Given the description of an element on the screen output the (x, y) to click on. 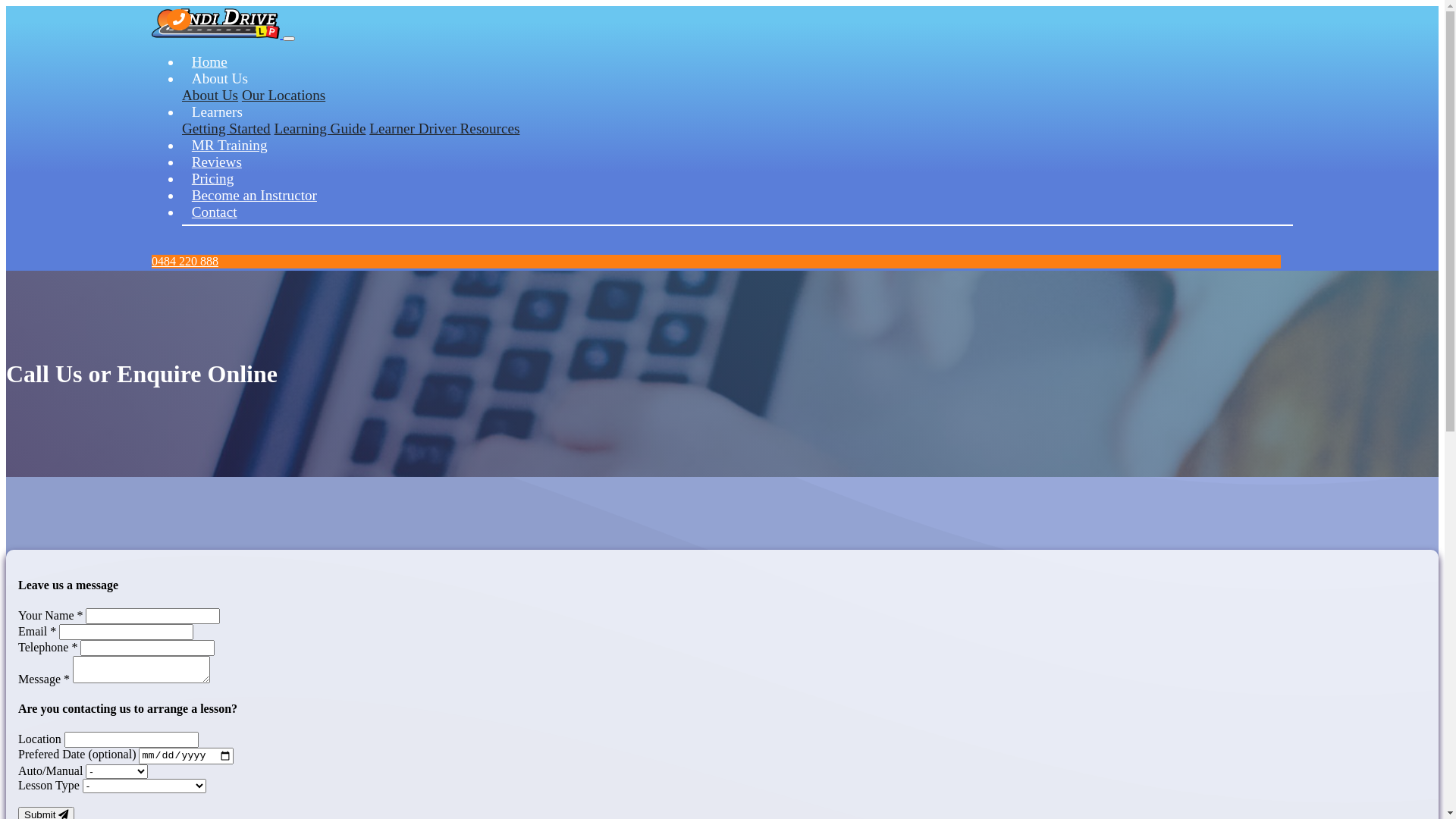
Learner Driver Resources Element type: text (444, 128)
Contact Element type: text (737, 222)
0484 220 888 Element type: text (184, 260)
MR Training Element type: text (229, 145)
Our Locations Element type: text (283, 95)
Prefered Date (optional) Element type: text (722, 755)
Getting Started Element type: text (226, 128)
About Us Element type: text (210, 95)
Reviews Element type: text (216, 161)
Learners Element type: text (217, 111)
Home Element type: text (209, 61)
Learning Guide Element type: text (320, 128)
Become an Instructor Element type: text (254, 195)
About Us Element type: text (219, 78)
Pricing Element type: text (212, 178)
